Given the description of an element on the screen output the (x, y) to click on. 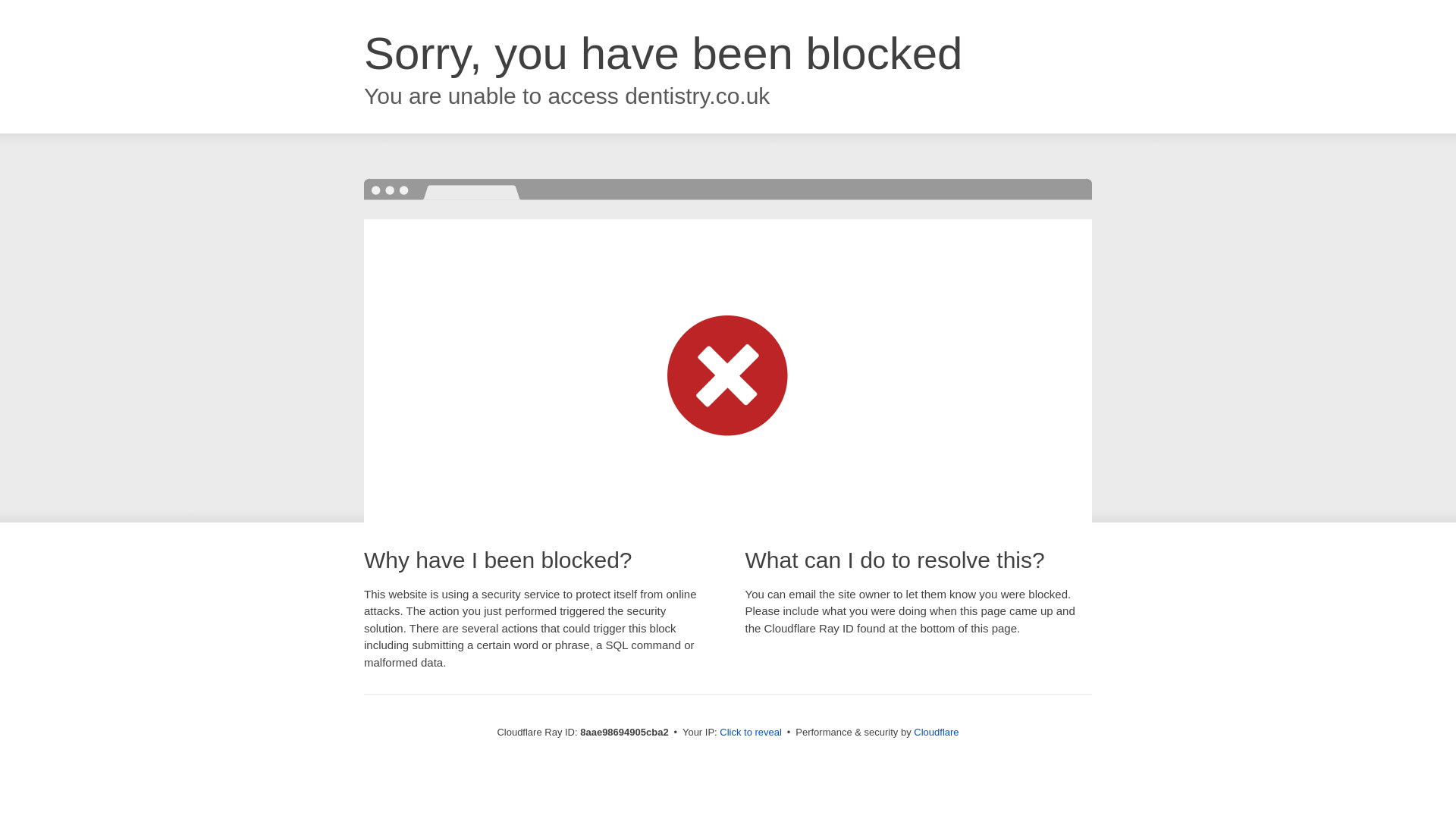
Click to reveal (750, 732)
Cloudflare (936, 731)
